Given the description of an element on the screen output the (x, y) to click on. 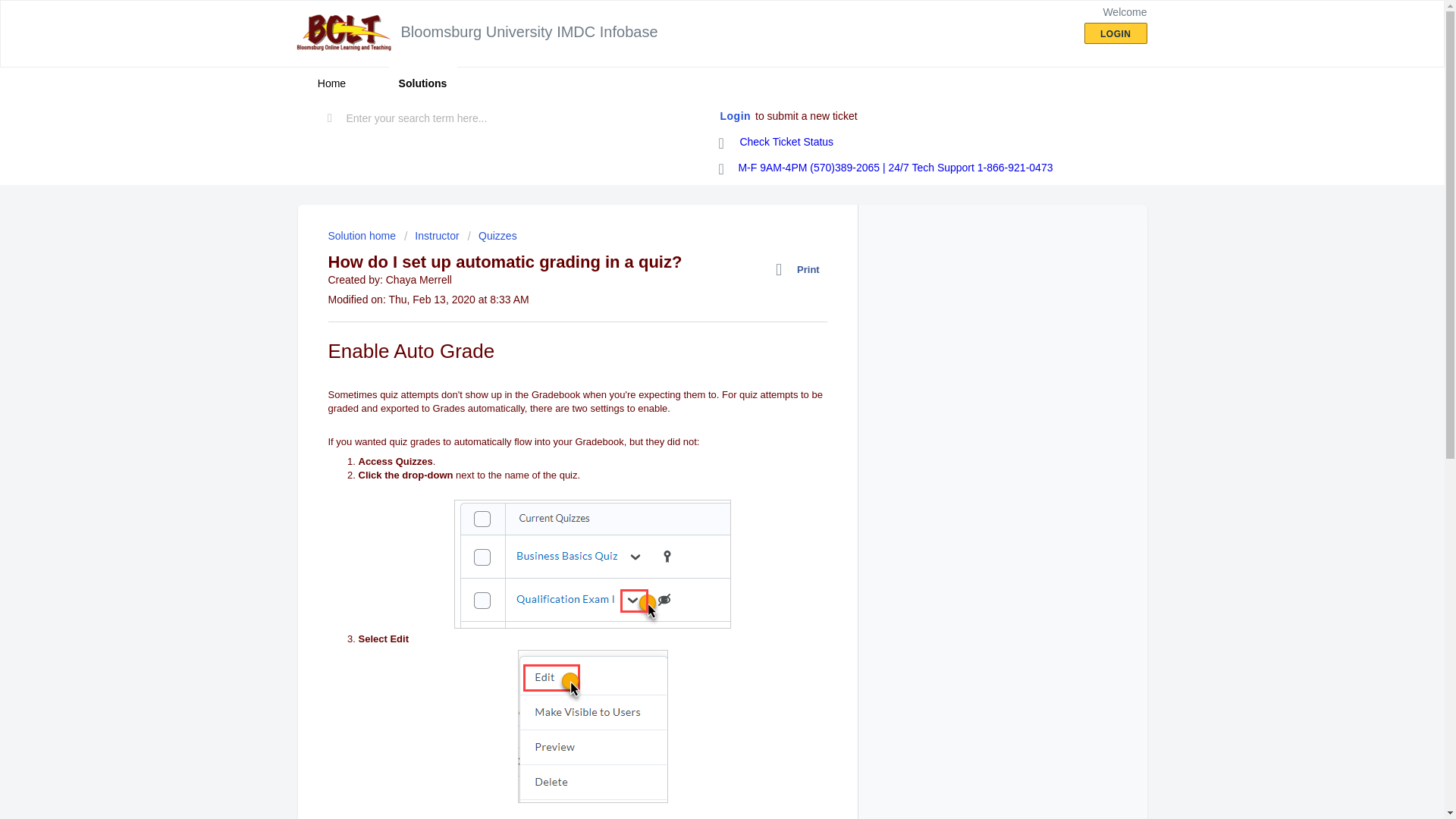
Quizzes (491, 235)
Instructor (432, 235)
Check ticket status (776, 142)
LOGIN (1115, 33)
Login (735, 116)
Solution home (362, 235)
Print this Article (801, 270)
Solutions (422, 83)
Check Ticket Status (776, 142)
Home (331, 83)
